Given the description of an element on the screen output the (x, y) to click on. 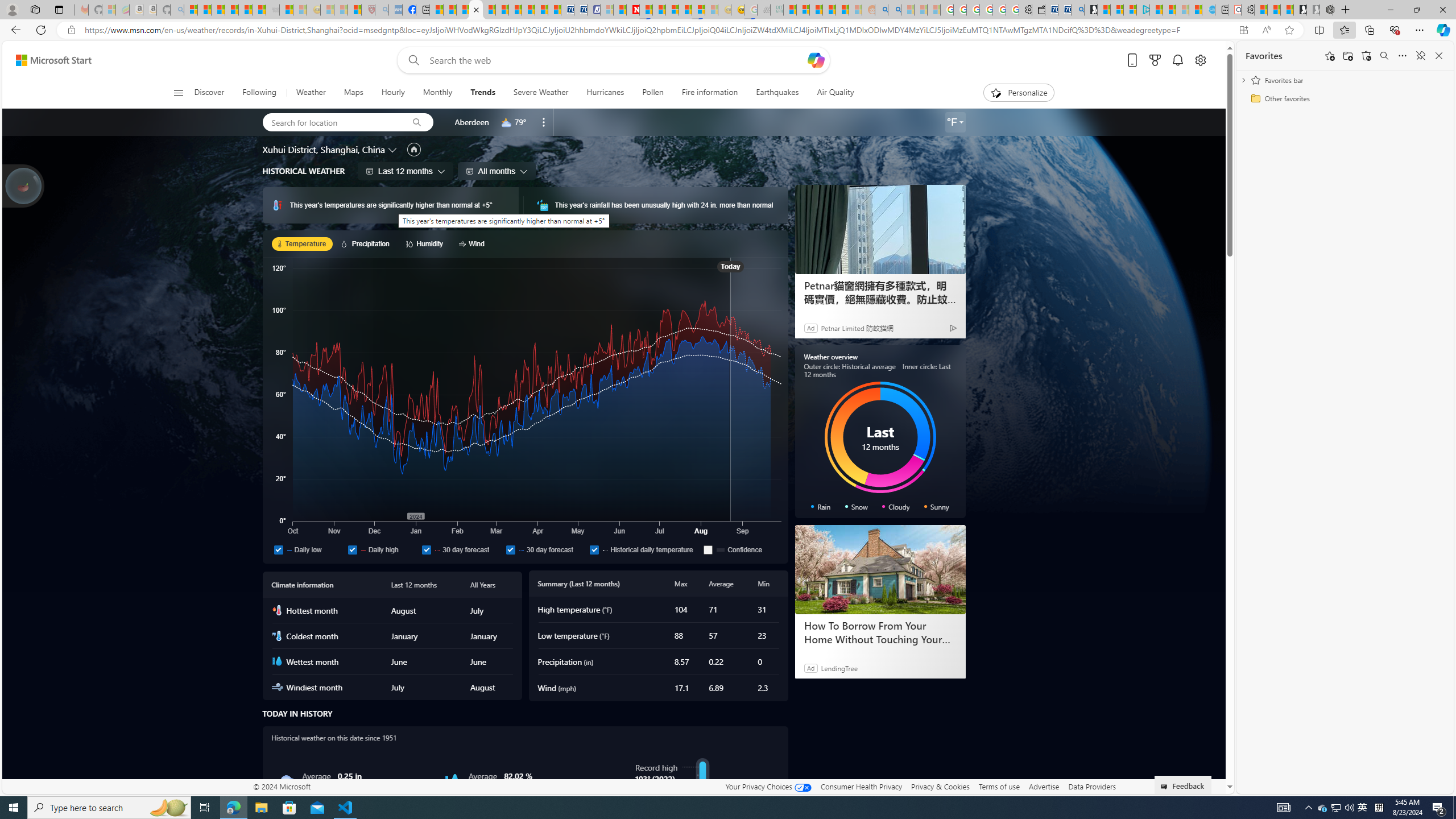
Search for location (330, 122)
Earthquakes (777, 92)
Latest Politics News & Archive | Newsweek.com (633, 9)
